Given the description of an element on the screen output the (x, y) to click on. 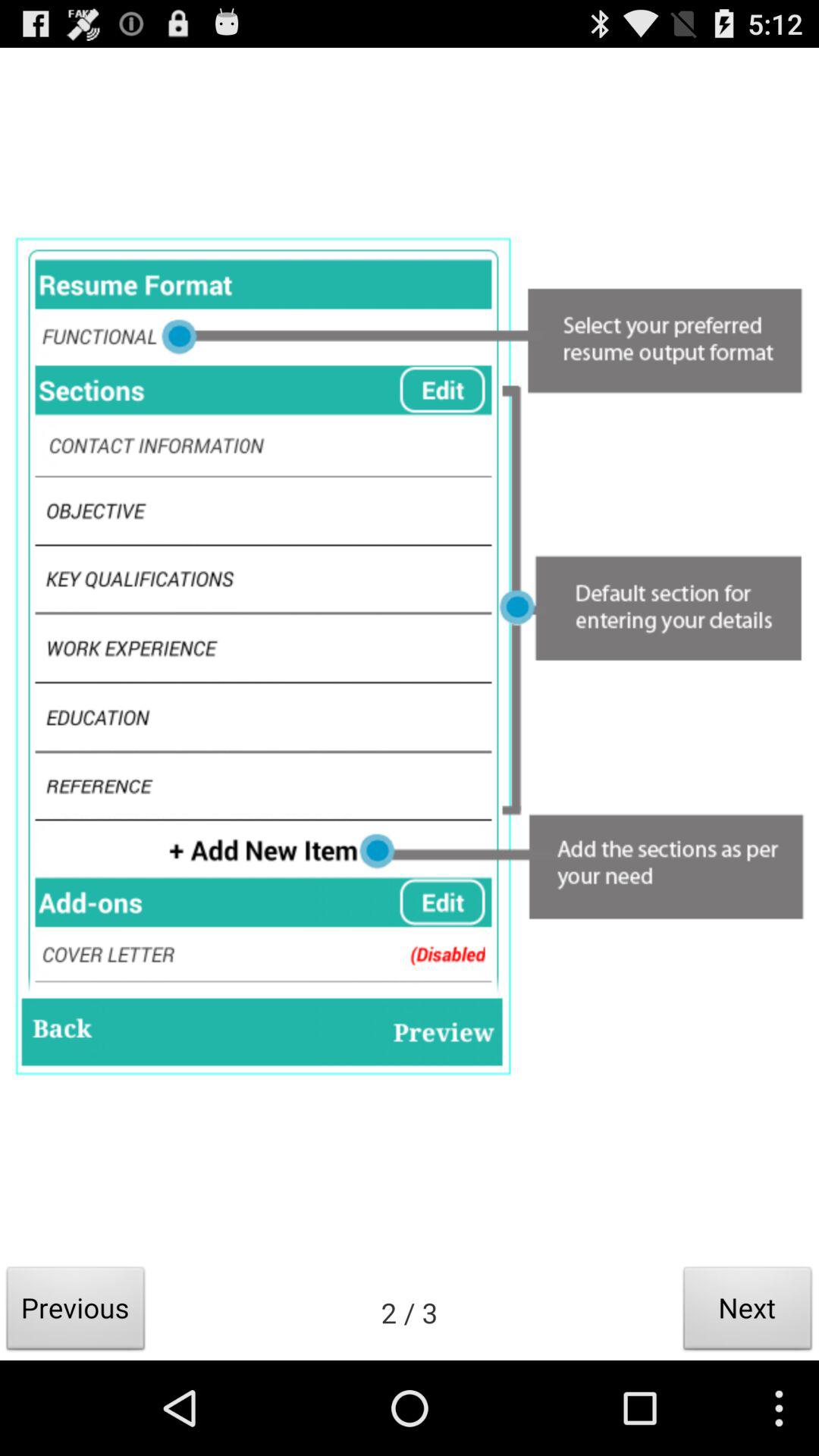
tap the item next to the 2 / 3 app (75, 1312)
